Given the description of an element on the screen output the (x, y) to click on. 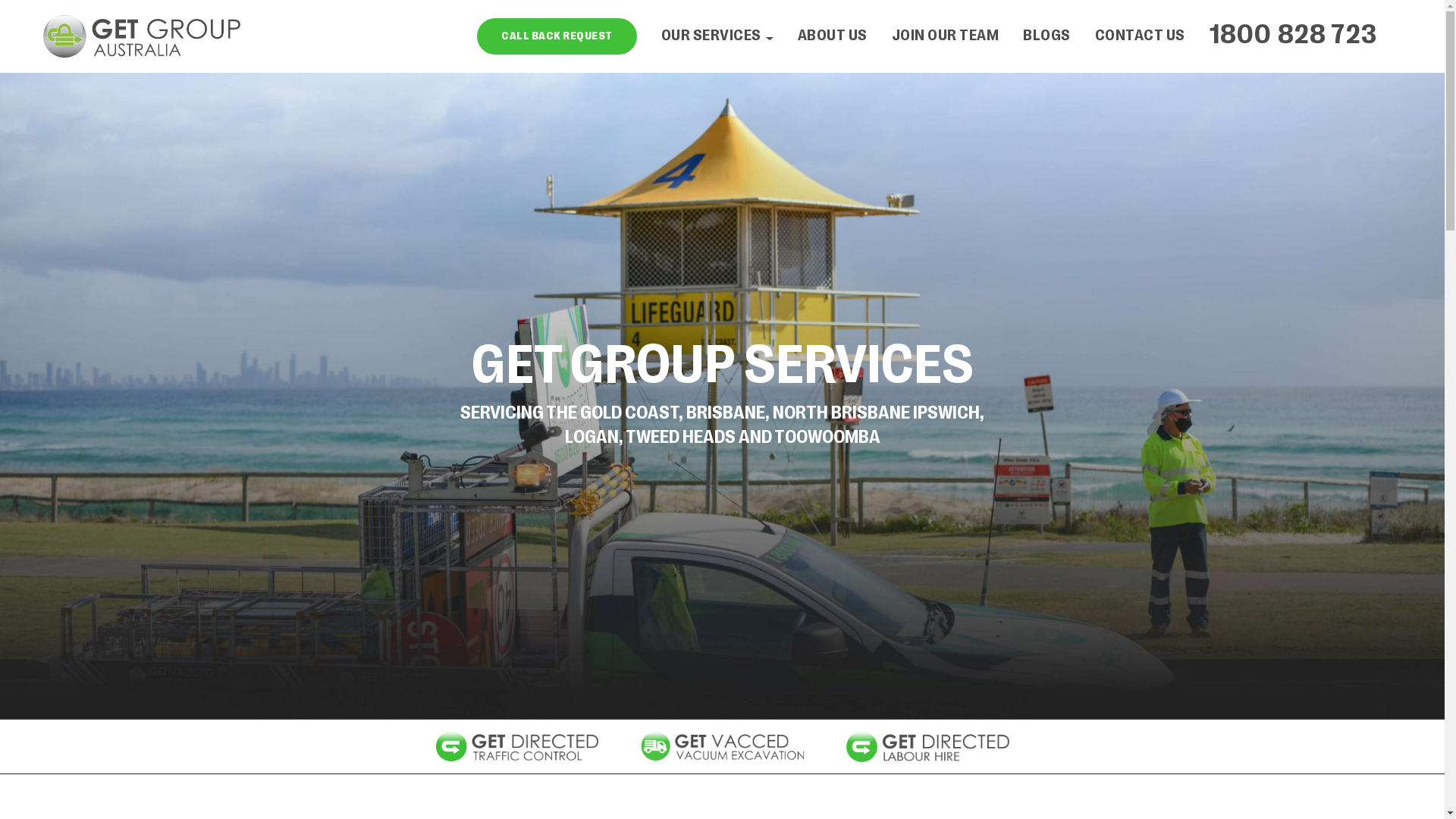
ENQUIRE Element type: text (645, 622)
ABOUT US Element type: text (832, 35)
JOIN OUR TEAM Element type: text (945, 35)
BLOGS Element type: text (1046, 35)
1800 828 723 Element type: text (1293, 36)
CALL BACK REQUEST Element type: text (556, 36)
CONTACT US Element type: text (1140, 35)
OUR SERVICES Element type: text (717, 35)
